Given the description of an element on the screen output the (x, y) to click on. 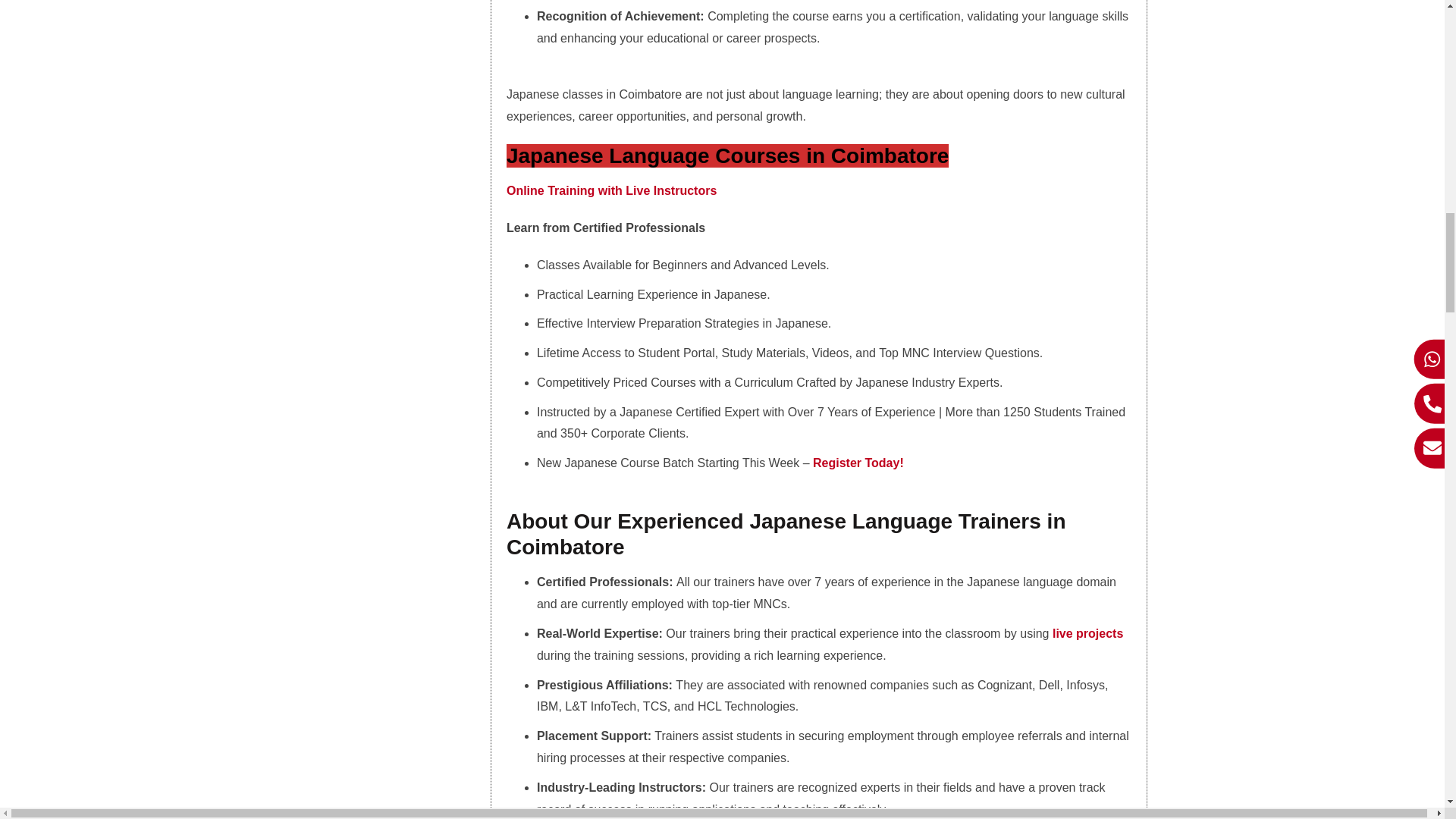
Online Training with Live Instructors  (613, 190)
live projects (1087, 633)
Register Today! (858, 462)
